Given the description of an element on the screen output the (x, y) to click on. 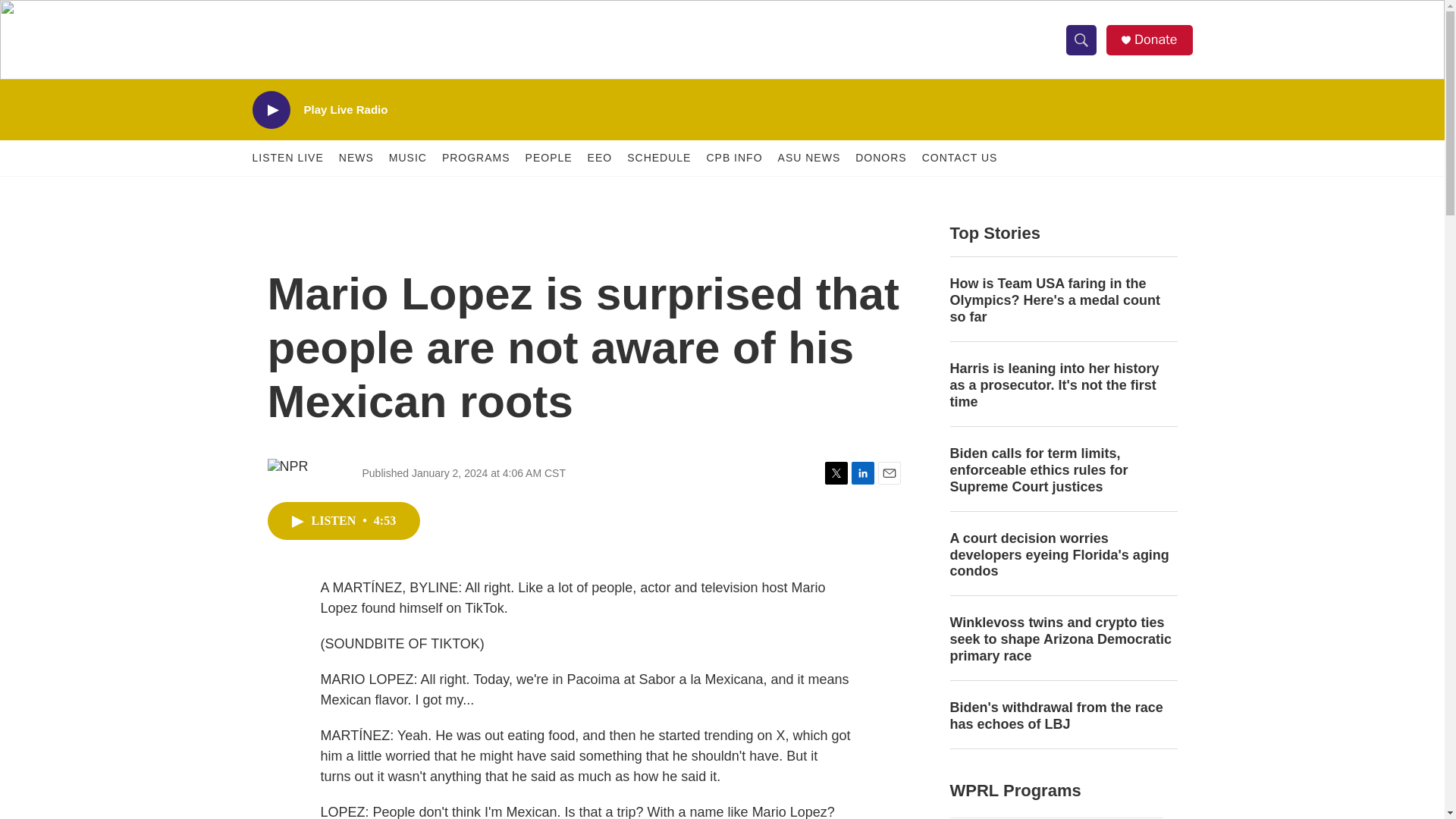
PROGRAMS (476, 158)
SCHEDULE (658, 158)
ASU NEWS (809, 158)
LISTEN LIVE (287, 158)
NEWS (356, 158)
PEOPLE (548, 158)
DONORS (880, 158)
Email (889, 472)
CONTACT US (959, 158)
Donate (1155, 39)
MUSIC (407, 158)
CPB INFO (733, 158)
Twitter (836, 472)
LinkedIn (861, 472)
Show Search (1080, 39)
